Given the description of an element on the screen output the (x, y) to click on. 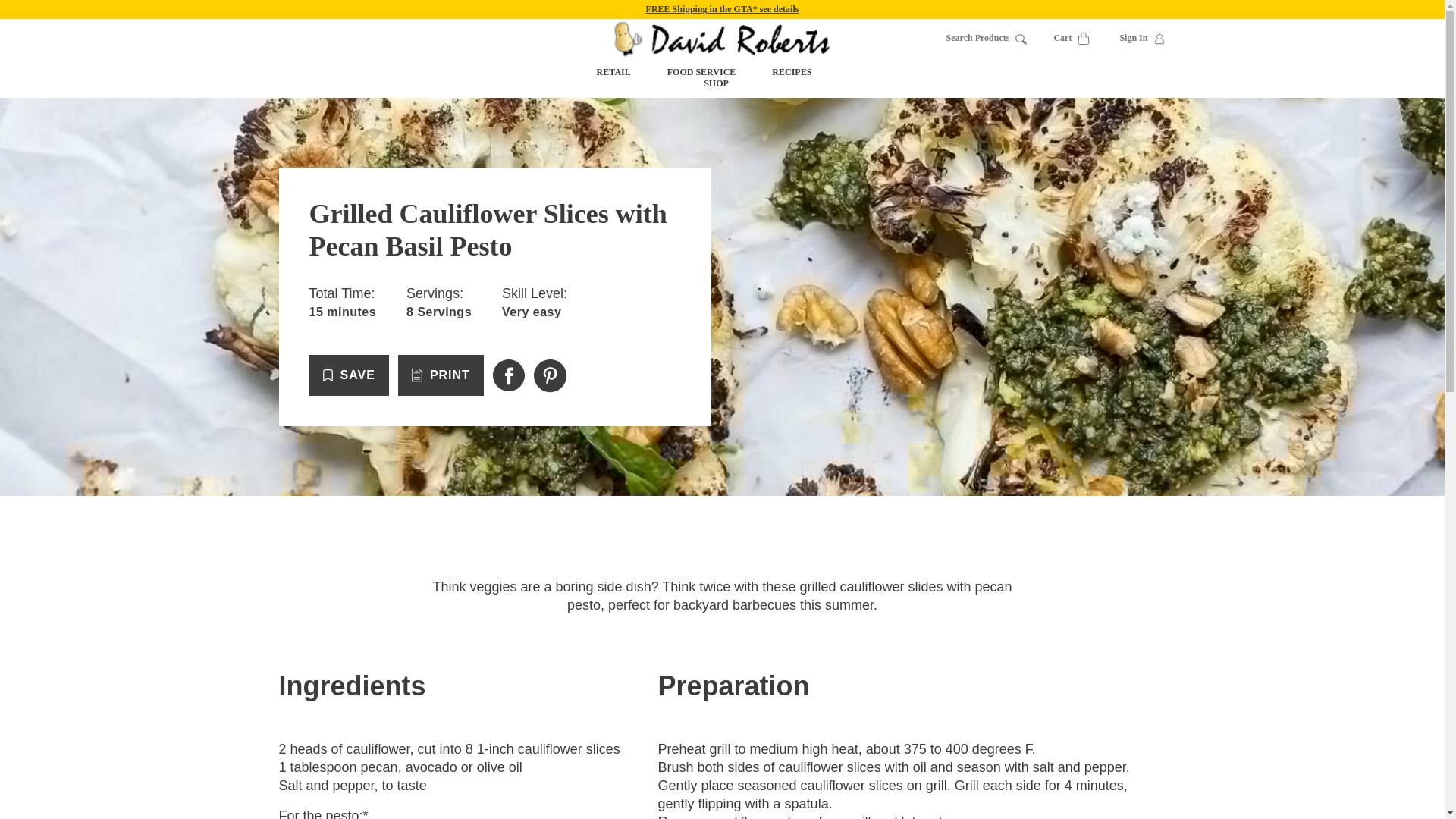
RECIPES (790, 71)
SAVE (348, 374)
Sign In (1142, 38)
Search Products (986, 38)
Cart (1072, 38)
RETAIL (613, 71)
SHOP (722, 83)
FOOD SERVICE (701, 71)
